Given the description of an element on the screen output the (x, y) to click on. 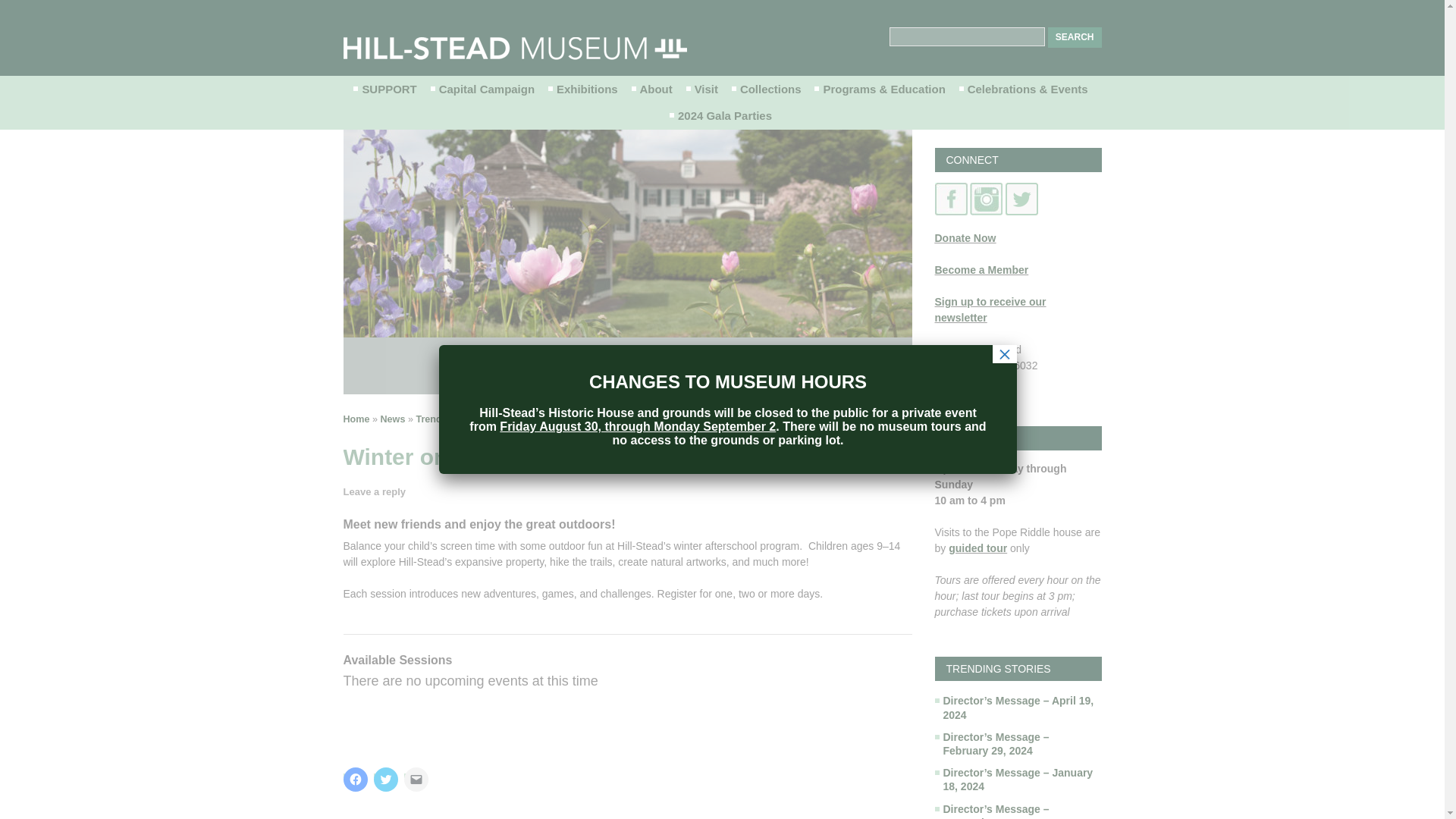
subscribe (989, 309)
About (653, 89)
Hill-Stead Museum (513, 47)
Exhibitions (584, 89)
Skip to content (770, 87)
Search (1075, 37)
Click to email a link to a friend (415, 779)
Search (1075, 37)
Skip to content (770, 87)
SUPPORT (386, 89)
